Given the description of an element on the screen output the (x, y) to click on. 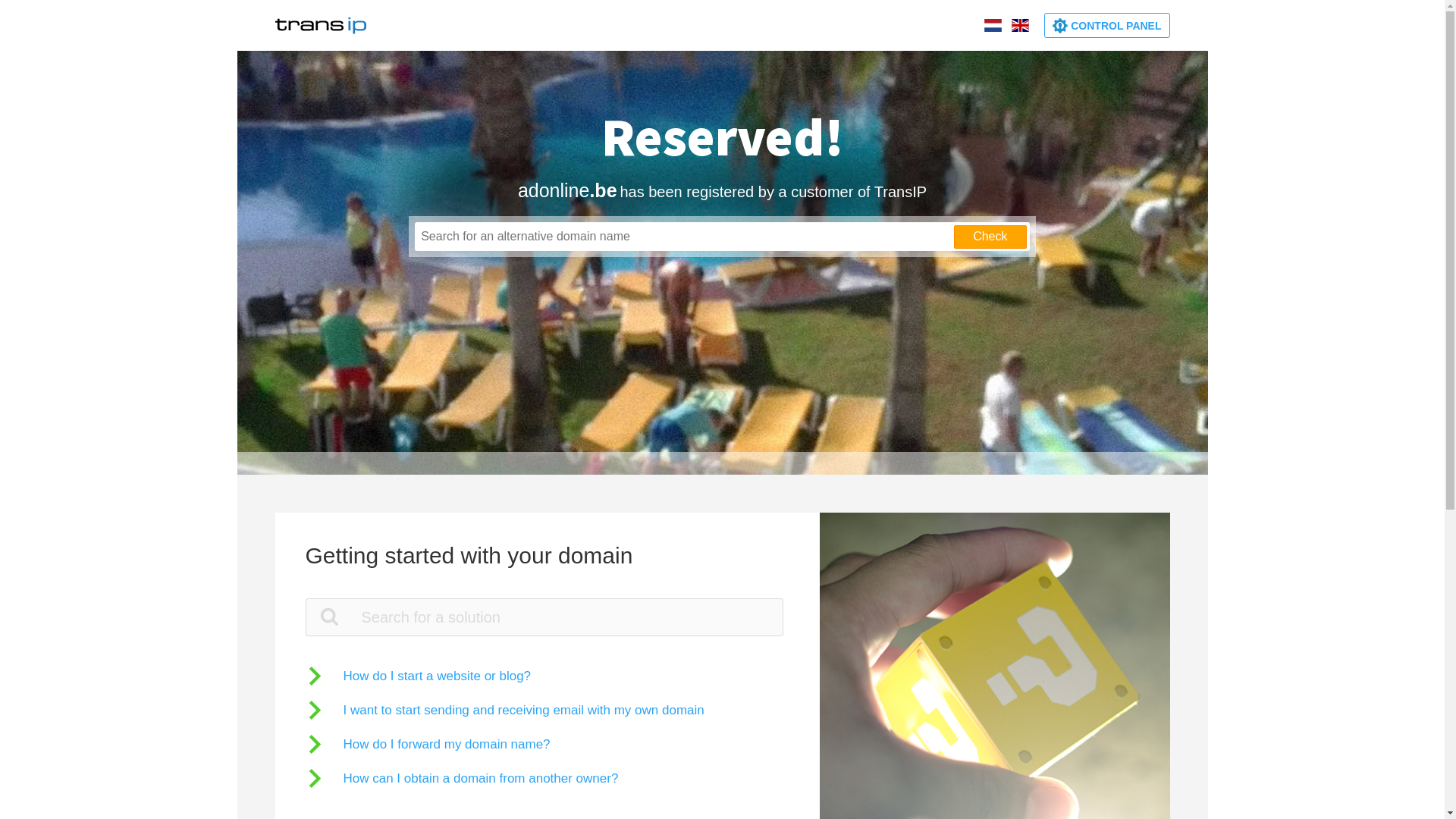
How do I forward my domain name? Element type: text (426, 743)
How can I obtain a domain from another owner? Element type: text (461, 777)
CONTROL PANEL Element type: text (1106, 24)
Check Element type: text (989, 236)
How do I start a website or blog? Element type: text (417, 675)
